Given the description of an element on the screen output the (x, y) to click on. 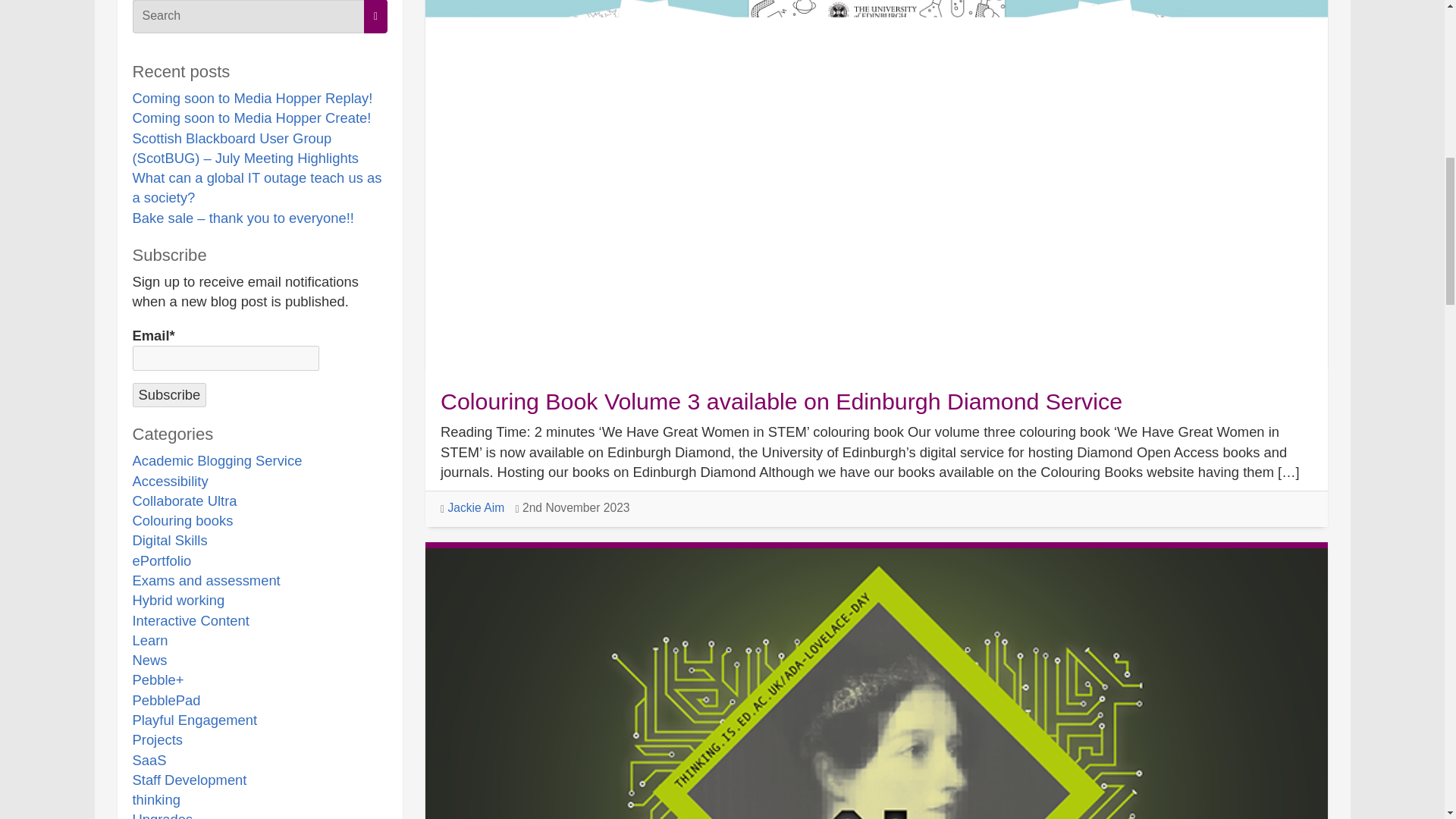
Staff Development (189, 779)
What can a global IT outage teach us as a society? (256, 187)
Upgrades (162, 815)
Playful Engagement (194, 719)
Collaborate Ultra (183, 500)
Interactive Content (190, 620)
Posts by Jackie Aim (474, 507)
SaaS (148, 760)
Colouring books (182, 520)
Subscribe (169, 395)
